Given the description of an element on the screen output the (x, y) to click on. 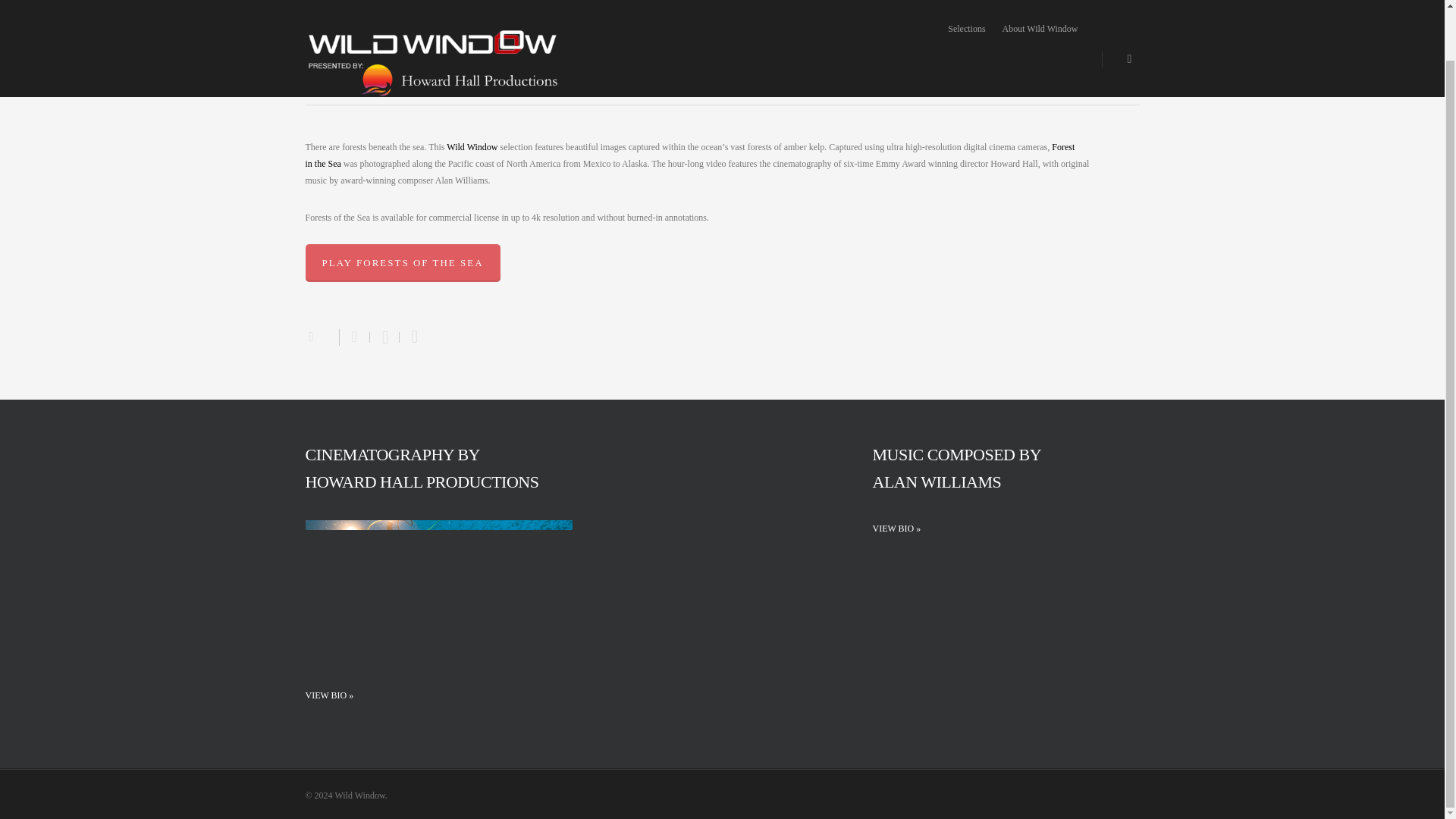
PLAY FORESTS OF THE SEA (401, 262)
Tweet this (383, 337)
Love this (320, 335)
Pin this (410, 337)
Share this (354, 337)
